Given the description of an element on the screen output the (x, y) to click on. 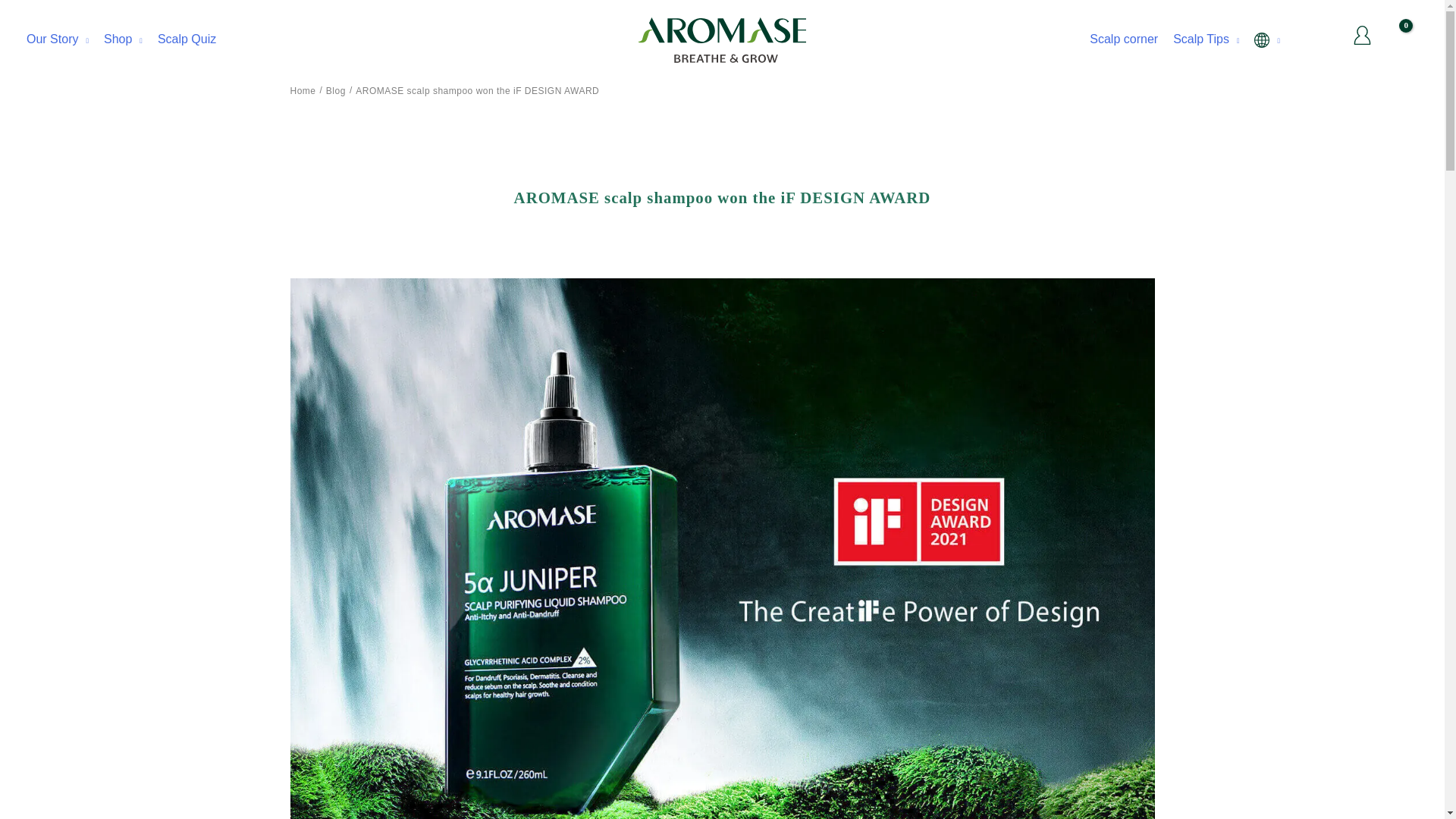
Shop (122, 38)
Scalp Quiz (186, 38)
Our Story (57, 38)
Scalp Tips (1206, 38)
Scalp corner (1123, 38)
